Given the description of an element on the screen output the (x, y) to click on. 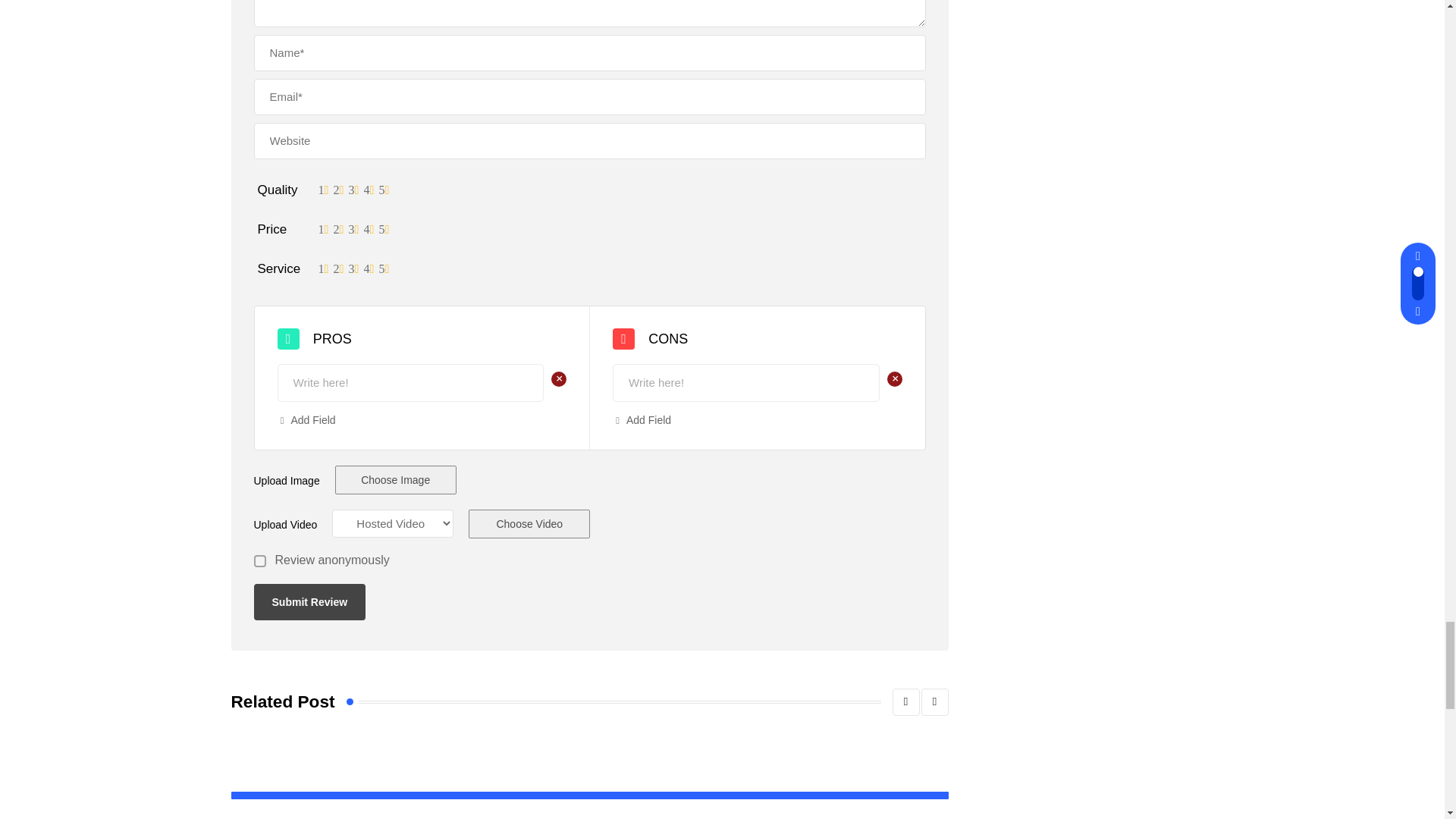
Submit Review (309, 601)
